Given the description of an element on the screen output the (x, y) to click on. 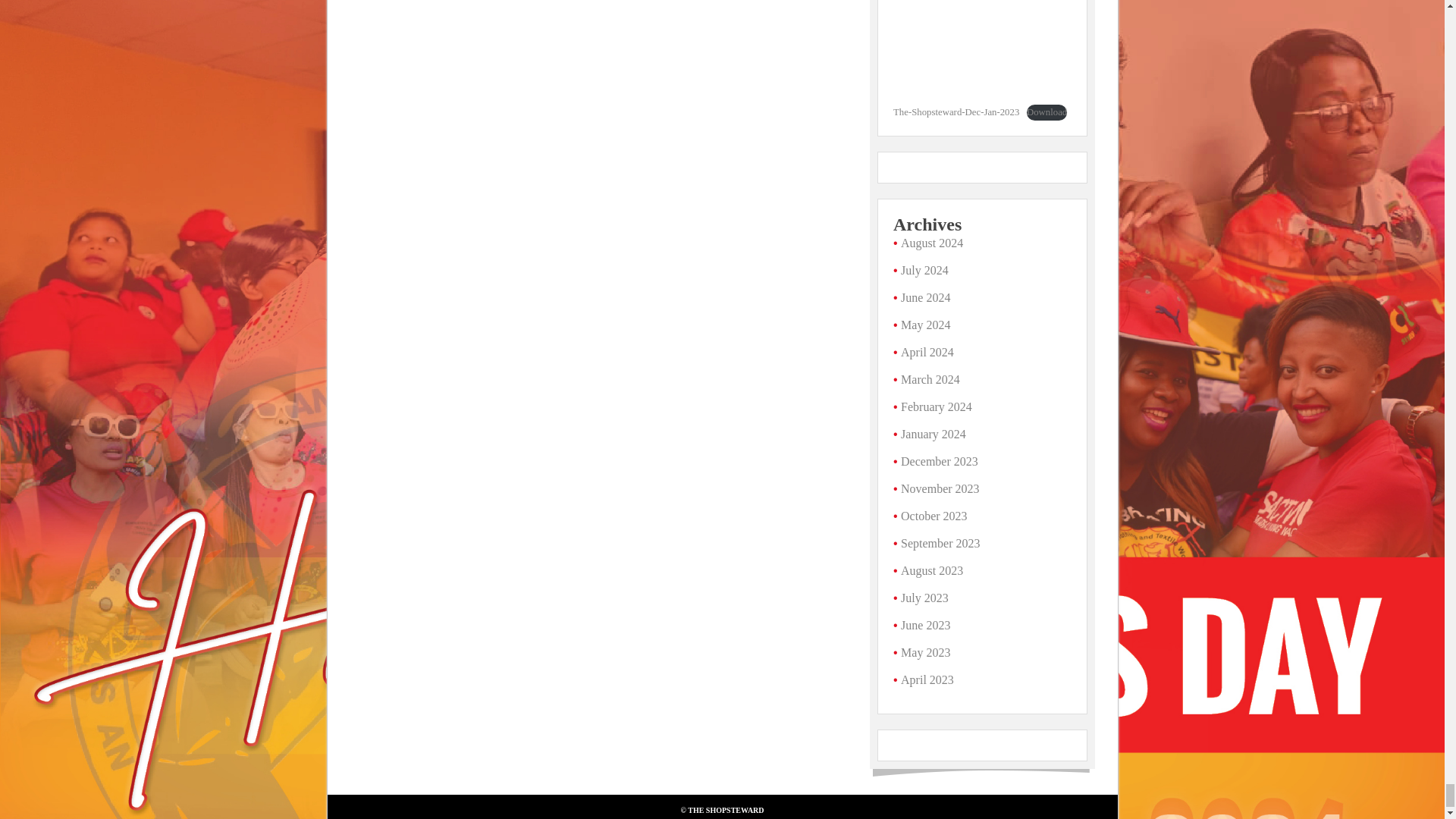
August 2023 (931, 570)
May 2023 (925, 652)
December 2023 (939, 461)
November 2023 (940, 488)
July 2023 (925, 597)
June 2024 (925, 297)
April 2024 (927, 351)
January 2024 (933, 433)
September 2023 (940, 543)
March 2024 (930, 379)
